Given the description of an element on the screen output the (x, y) to click on. 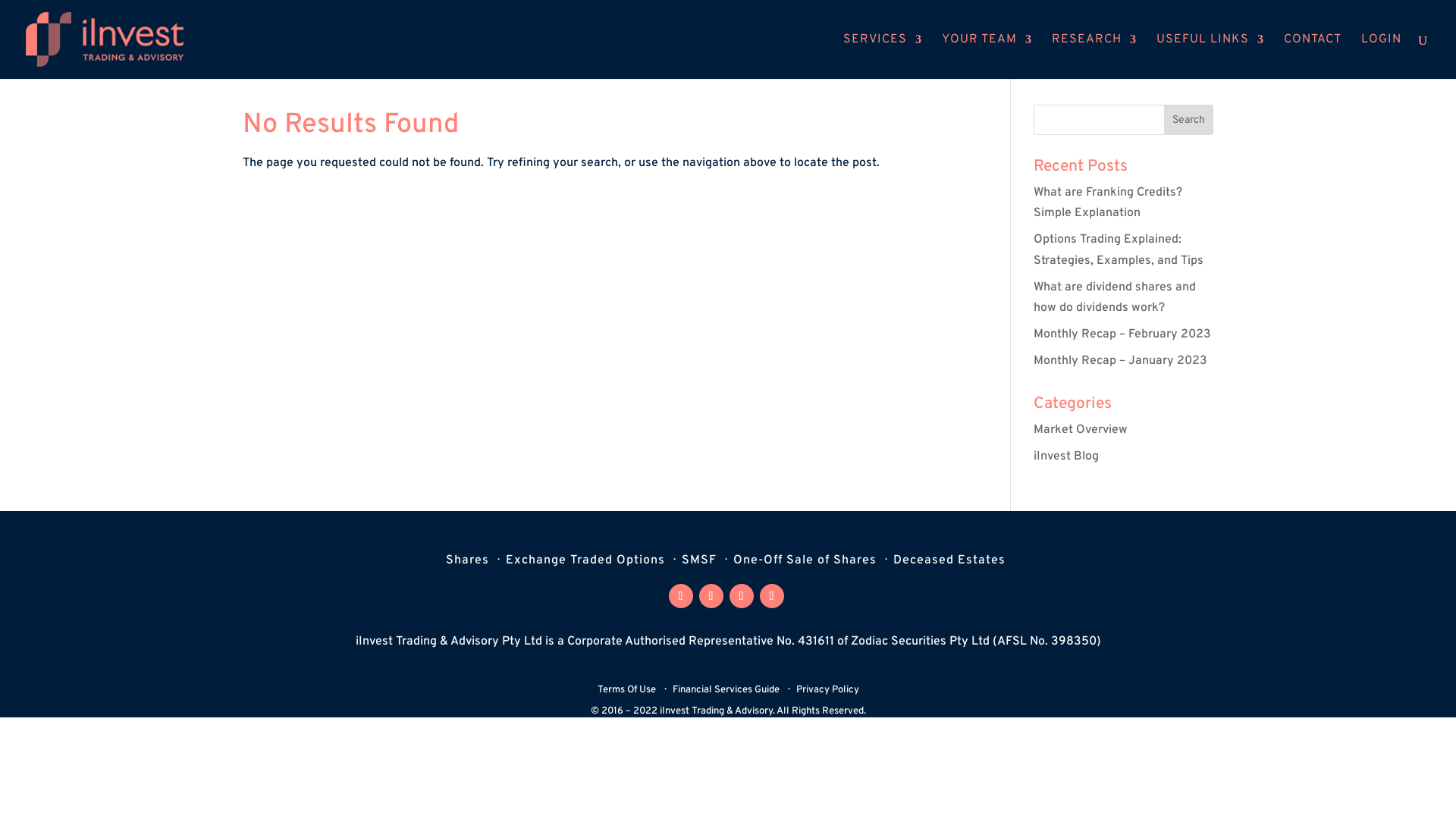
Options Trading Explained: Strategies, Examples, and Tips Element type: text (1118, 249)
Follow on Facebook Element type: hover (680, 595)
Shares Element type: text (467, 563)
Financial Services Guide Element type: text (724, 692)
Follow on LinkedIn Element type: hover (771, 595)
Follow on Instagram Element type: hover (711, 595)
What are dividend shares and how do dividends work? Element type: text (1114, 297)
Search Element type: text (1188, 119)
RESEARCH Element type: text (1093, 56)
SMSF Element type: text (697, 563)
USEFUL LINKS Element type: text (1210, 56)
Deceased Estates Element type: text (949, 563)
YOUR TEAM Element type: text (986, 56)
Terms Of Use Element type: text (626, 692)
LOGIN Element type: text (1381, 56)
Exchange Traded Options Element type: text (584, 563)
SERVICES Element type: text (882, 56)
One-Off Sale of Shares Element type: text (803, 563)
Follow on Youtube Element type: hover (741, 595)
What are Franking Credits? Simple Explanation Element type: text (1107, 202)
CONTACT Element type: text (1312, 56)
iInvest Blog Element type: text (1065, 456)
Privacy Policy Element type: text (827, 692)
Market Overview Element type: text (1080, 429)
